Given the description of an element on the screen output the (x, y) to click on. 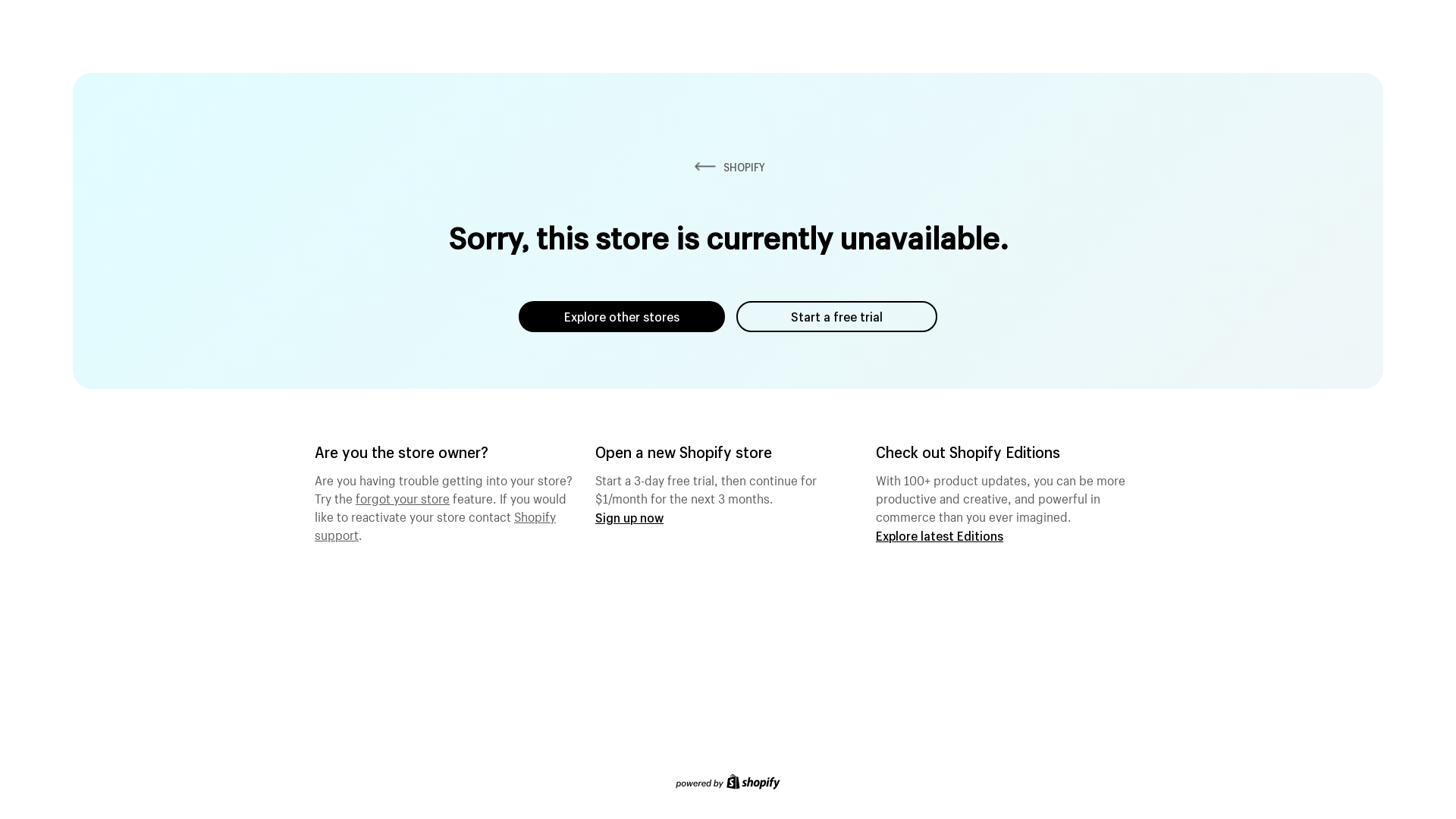
Sign up now Element type: text (629, 517)
Explore latest Editions Element type: text (939, 535)
forgot your store Element type: text (402, 496)
Start a free trial Element type: text (836, 316)
Explore other stores Element type: text (621, 316)
SHOPIFY Element type: text (727, 167)
Shopify support Element type: text (434, 523)
